Given the description of an element on the screen output the (x, y) to click on. 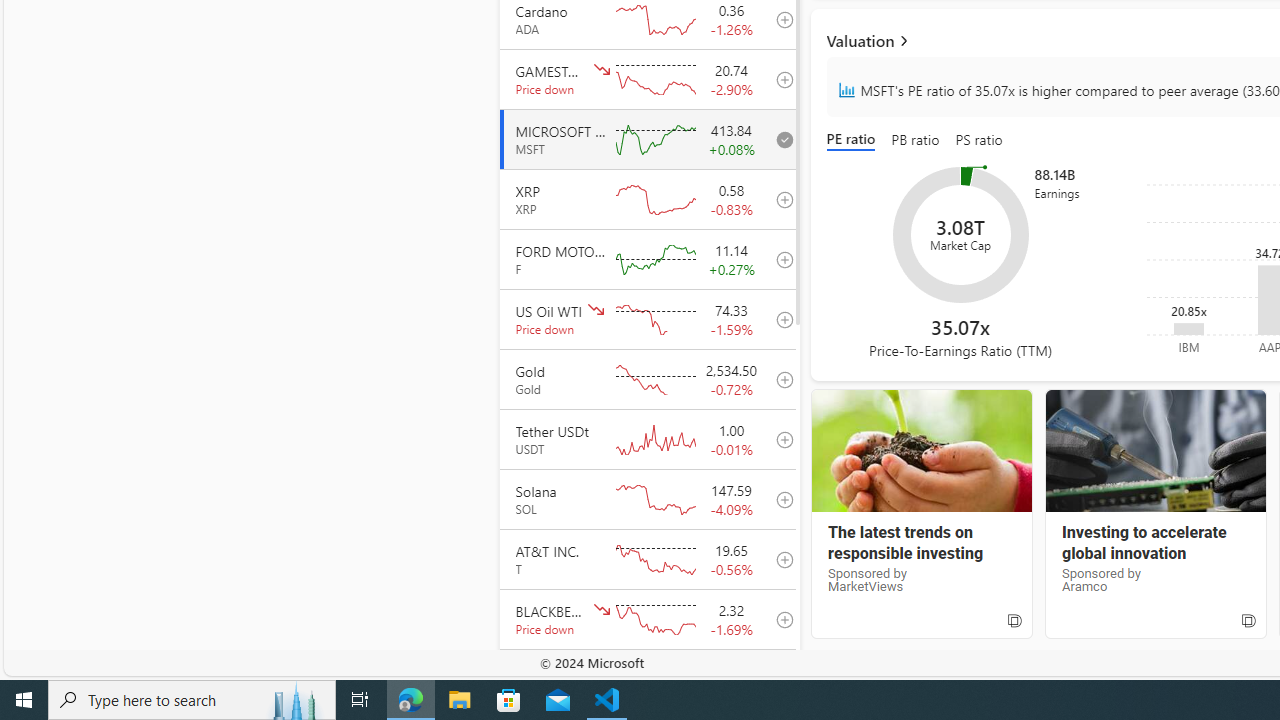
Class: recharts-surface (959, 234)
remove from your watchlist (779, 138)
PS ratio (979, 140)
PE ratio (854, 140)
